Given the description of an element on the screen output the (x, y) to click on. 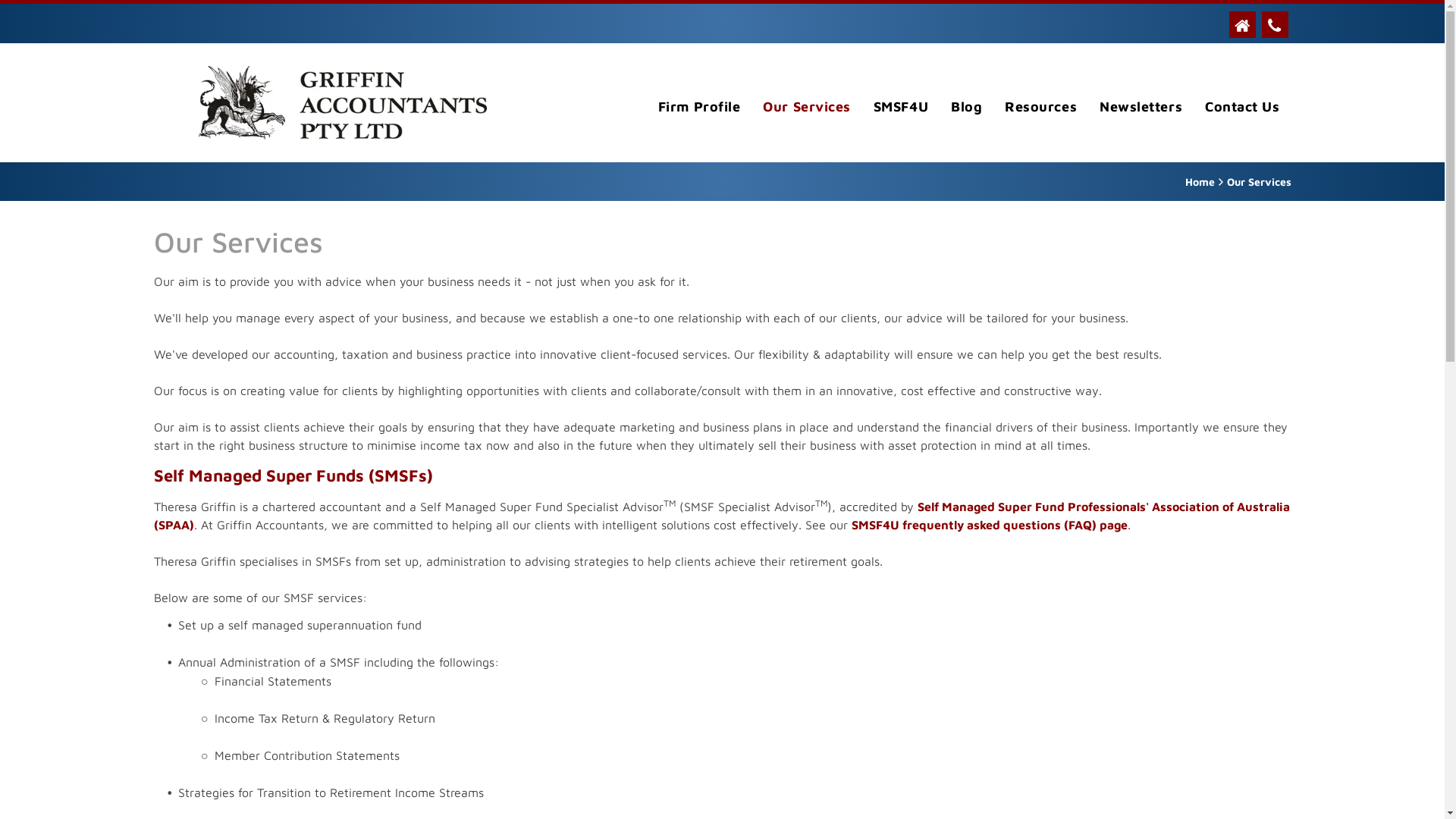
Newsletters Element type: text (1140, 106)
Blog Element type: text (966, 106)
Our Services Element type: text (806, 106)
SMSF4U frequently asked questions (FAQ) page Element type: text (988, 524)
SMSF4U Element type: text (900, 106)
Home Element type: text (1199, 181)
Resources Element type: text (1040, 106)
home Element type: text (1241, 24)
Firm Profile Element type: text (698, 106)
Contact Us Element type: text (1241, 106)
contact_griffin_accountants Element type: text (1274, 24)
